Given the description of an element on the screen output the (x, y) to click on. 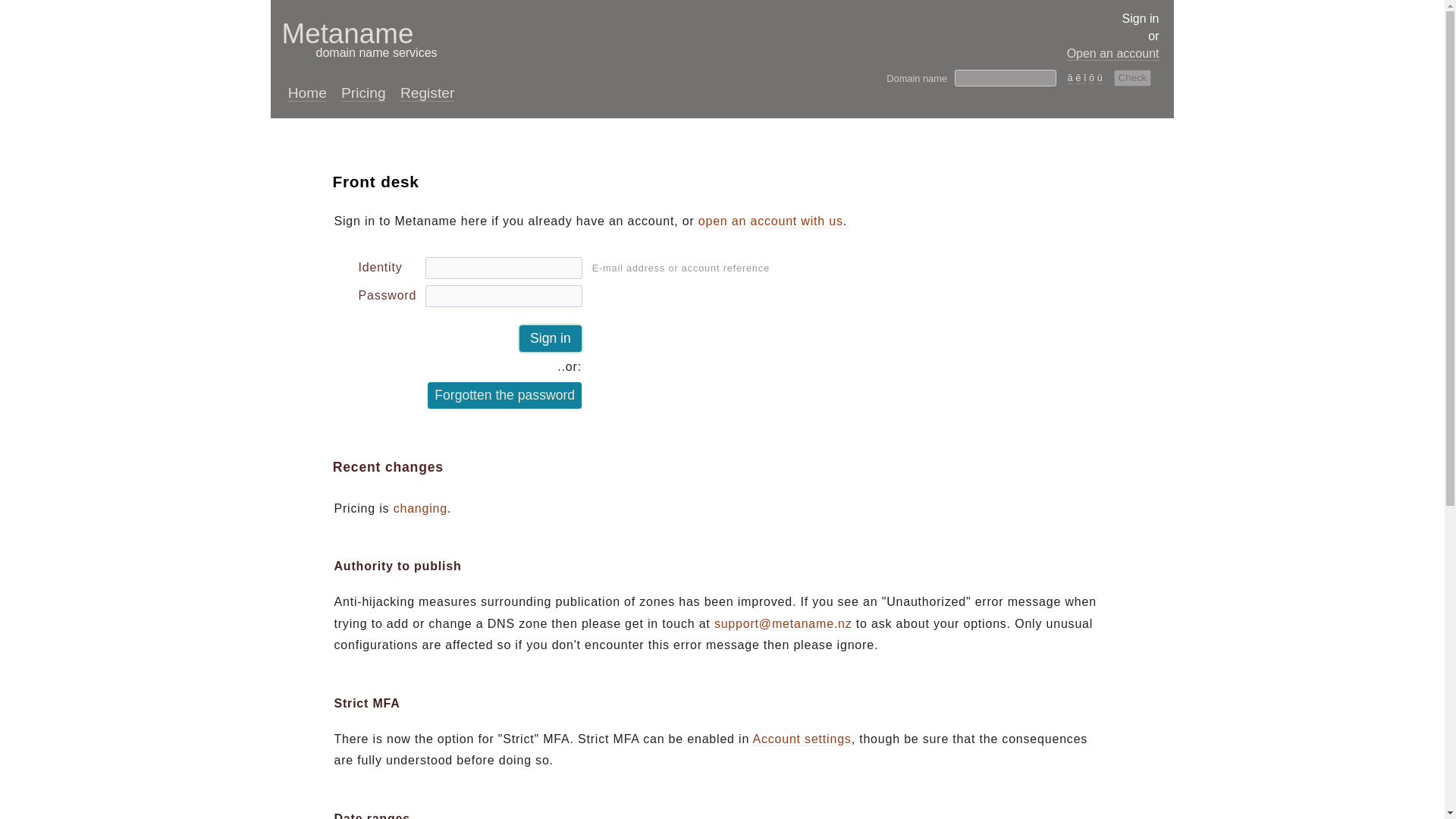
Checks domain name availability (1006, 77)
Check (1132, 77)
Pricing (362, 93)
Forgotten the password (504, 395)
changing (419, 508)
open an account with us (770, 221)
Register (427, 93)
Check (1132, 77)
Home (307, 93)
Sign in (549, 338)
Sign in (549, 338)
Open an account (1112, 53)
Forgotten the password (504, 395)
Account settings (354, 43)
